Given the description of an element on the screen output the (x, y) to click on. 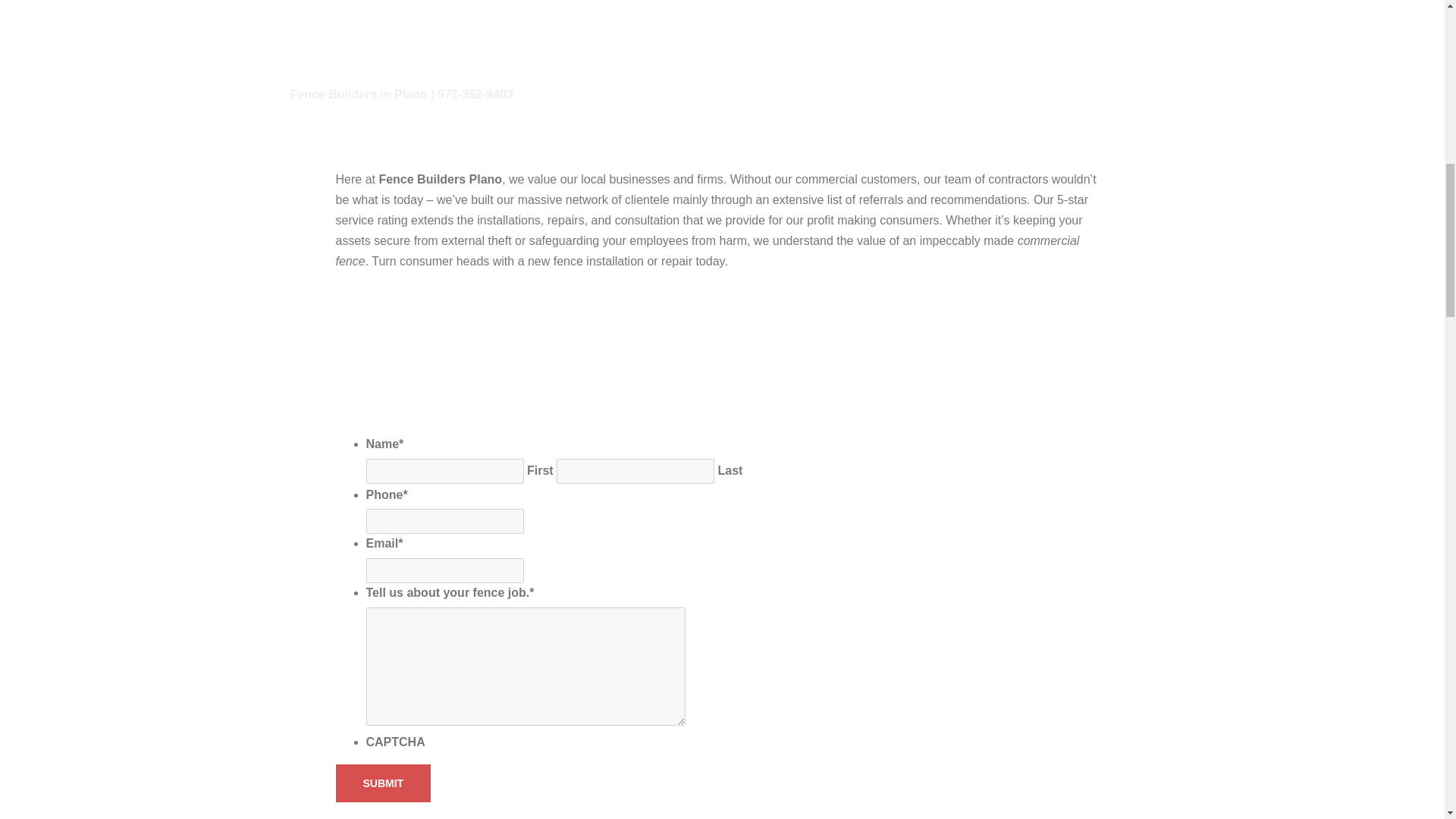
free estimate for fence installation in Plano Texas (538, 360)
Submit (382, 783)
Submit (382, 783)
commercial fencing plano TX (721, 69)
